Given the description of an element on the screen output the (x, y) to click on. 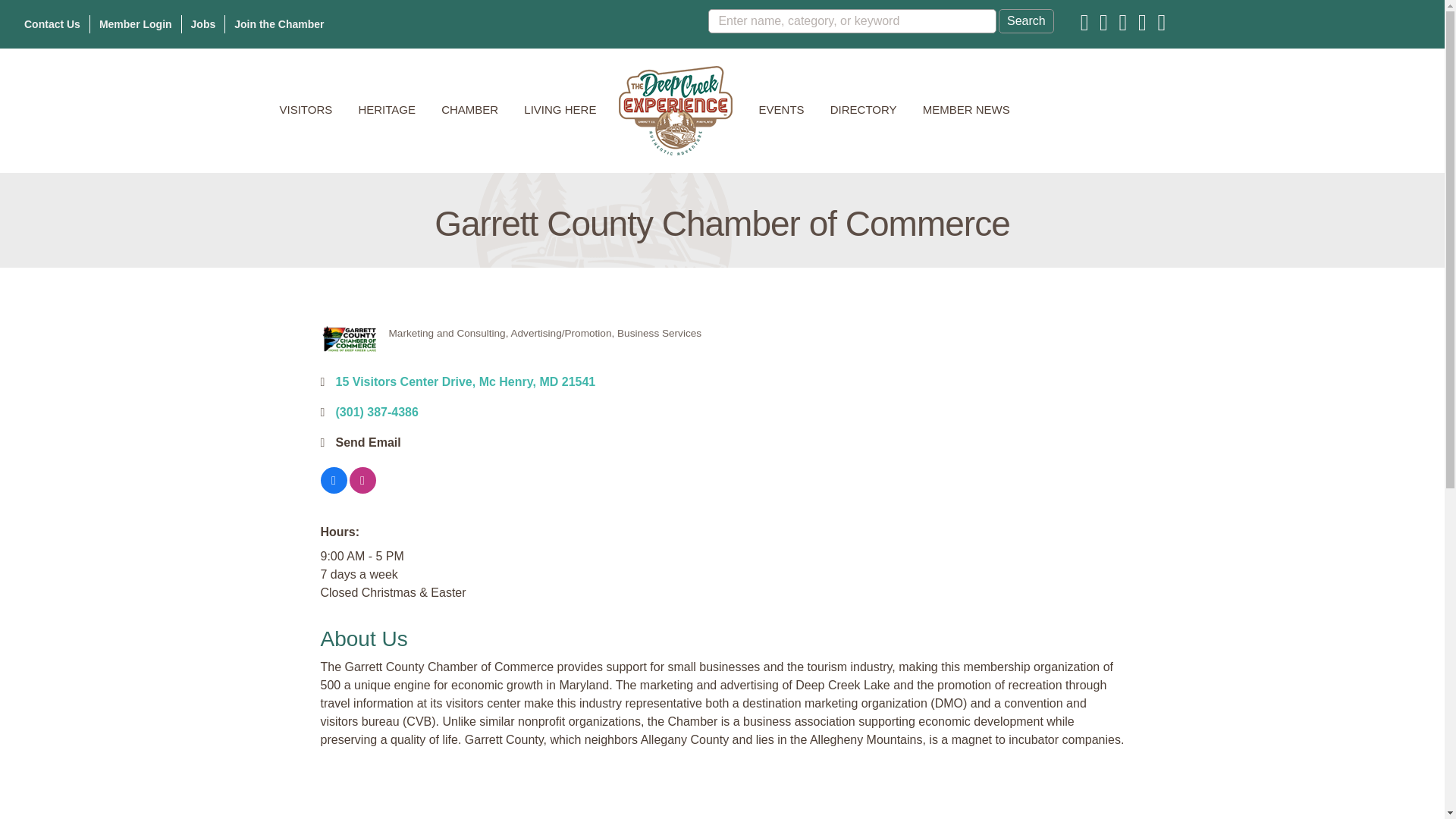
View on Instagram (362, 489)
Search (1026, 21)
Garrett County Chamber of Commerce (348, 338)
Search (1026, 21)
View on Facebook (333, 489)
